Given the description of an element on the screen output the (x, y) to click on. 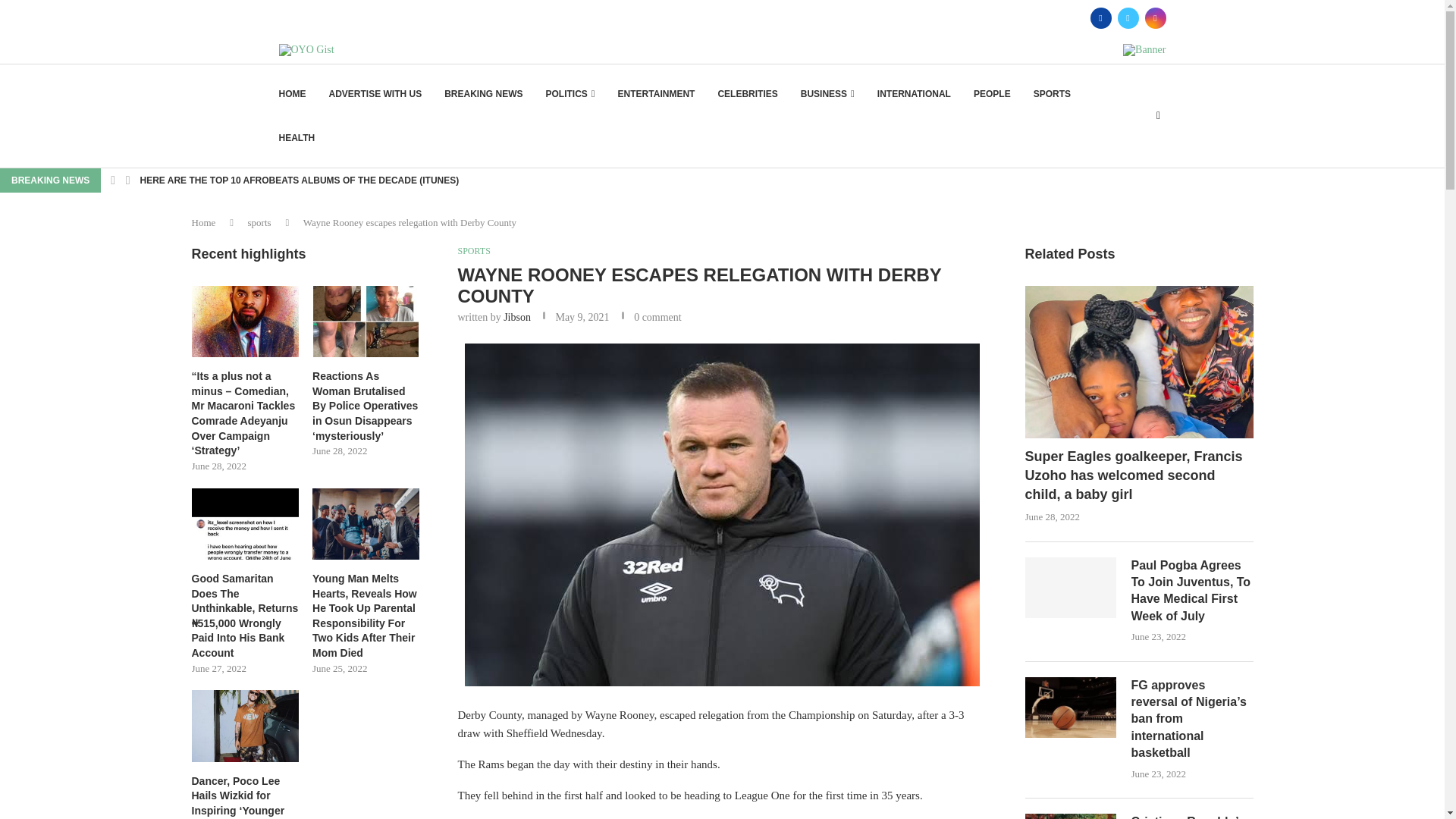
BUSINESS (827, 94)
CELEBRITIES (747, 94)
POLITICS (570, 94)
INTERNATIONAL (913, 94)
ENTERTAINMENT (656, 94)
BREAKING NEWS (483, 94)
